Given the description of an element on the screen output the (x, y) to click on. 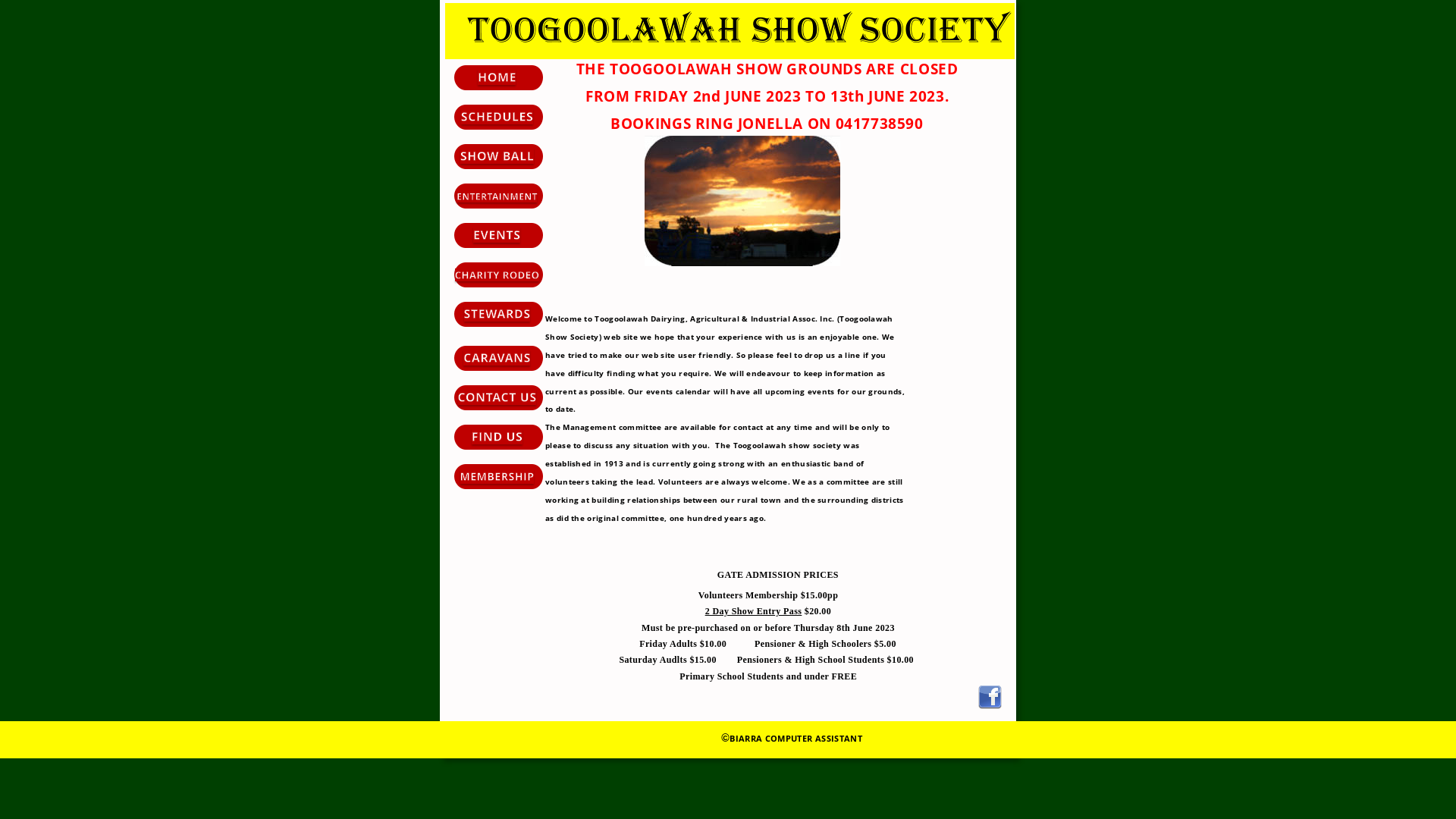
2 Day Show Entry Pass Element type: text (753, 610)
